Given the description of an element on the screen output the (x, y) to click on. 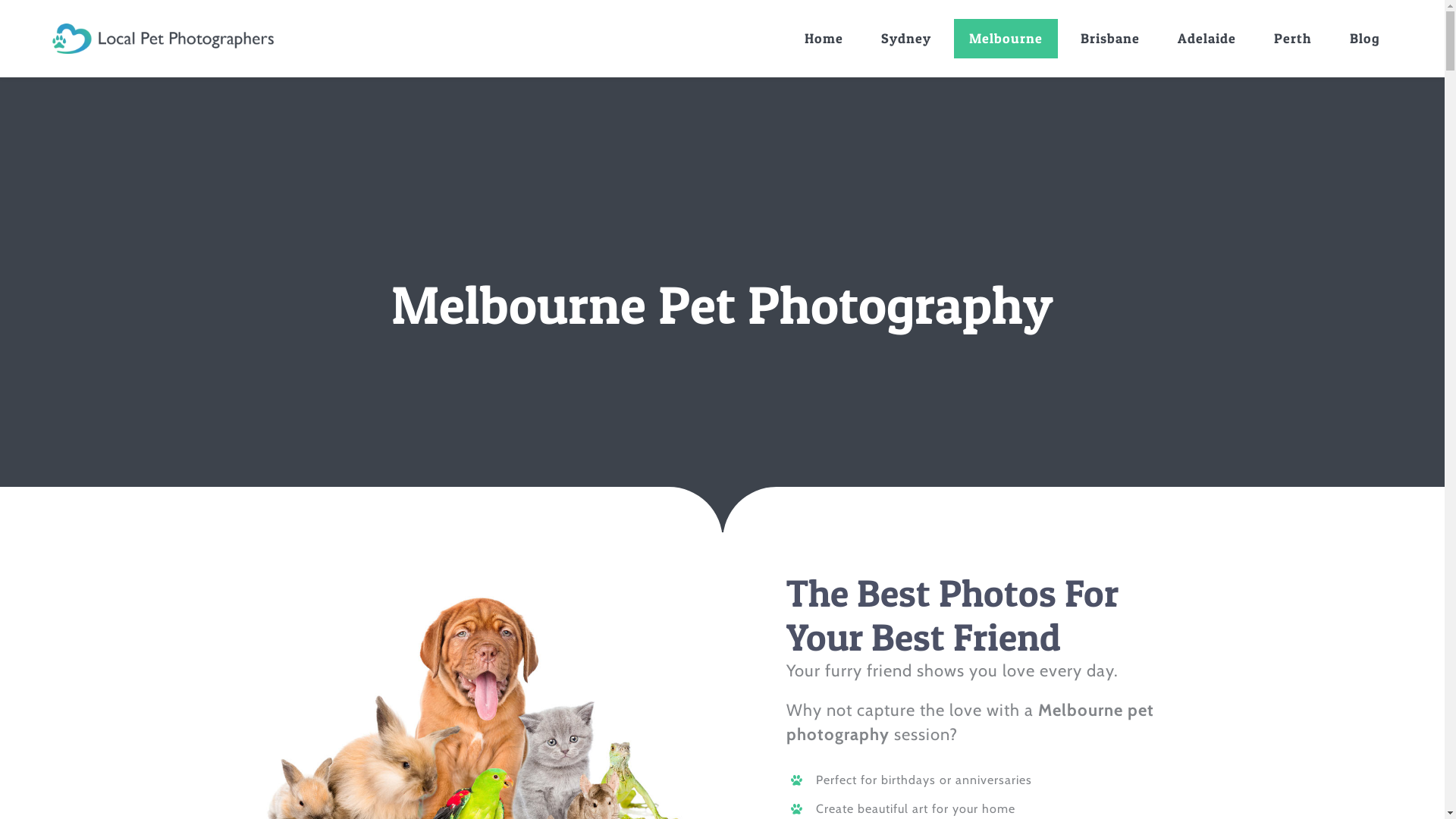
Home Element type: text (823, 38)
Adelaide Element type: text (1206, 38)
Perth Element type: text (1292, 38)
Blog Element type: text (1364, 38)
Sydney Element type: text (906, 38)
Melbourne Element type: text (1005, 38)
Brisbane Element type: text (1109, 38)
